Given the description of an element on the screen output the (x, y) to click on. 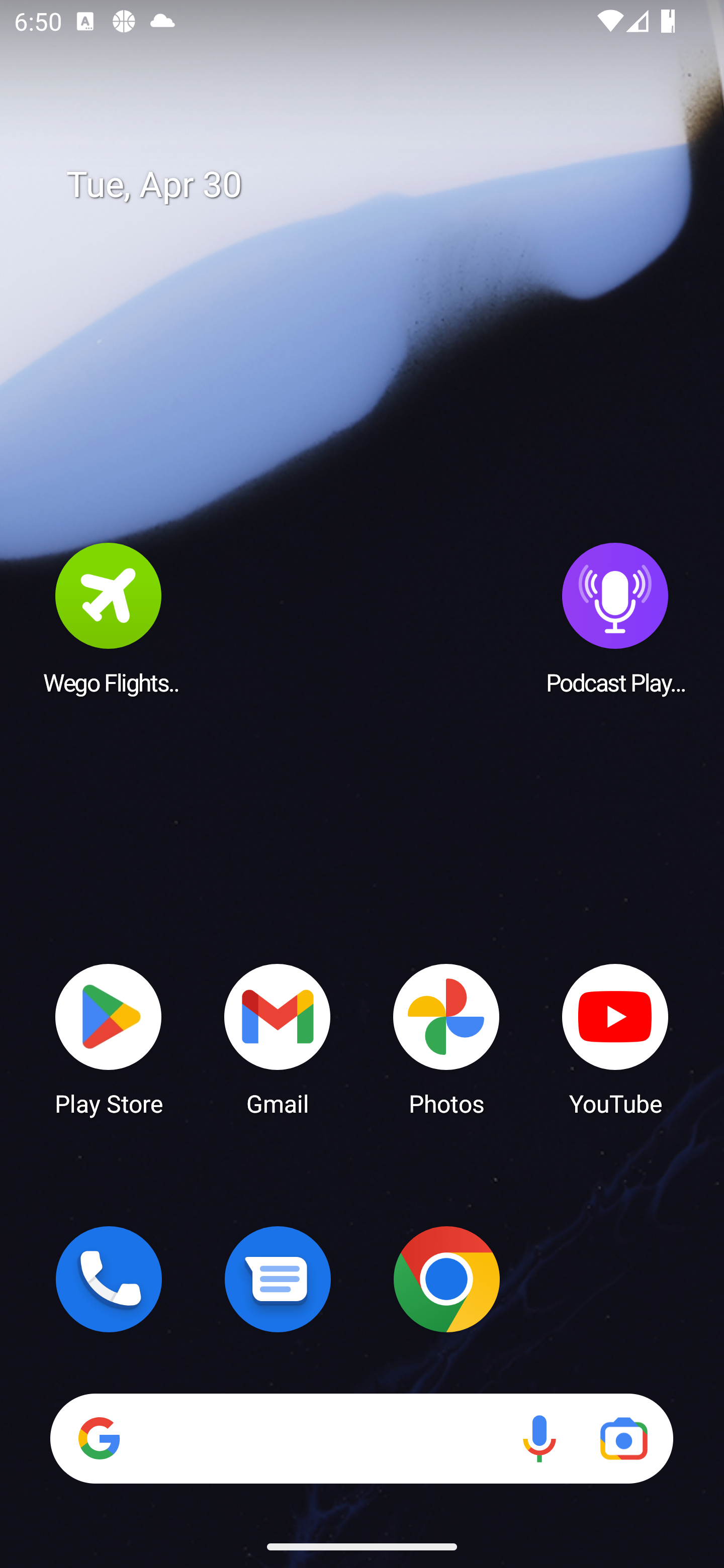
Tue, Apr 30 (375, 184)
Wego Flights & Hotels (108, 617)
Podcast Player (615, 617)
Play Store (108, 1038)
Gmail (277, 1038)
Photos (445, 1038)
YouTube (615, 1038)
Phone (108, 1279)
Messages (277, 1279)
Chrome (446, 1279)
Voice search (539, 1438)
Google Lens (623, 1438)
